Given the description of an element on the screen output the (x, y) to click on. 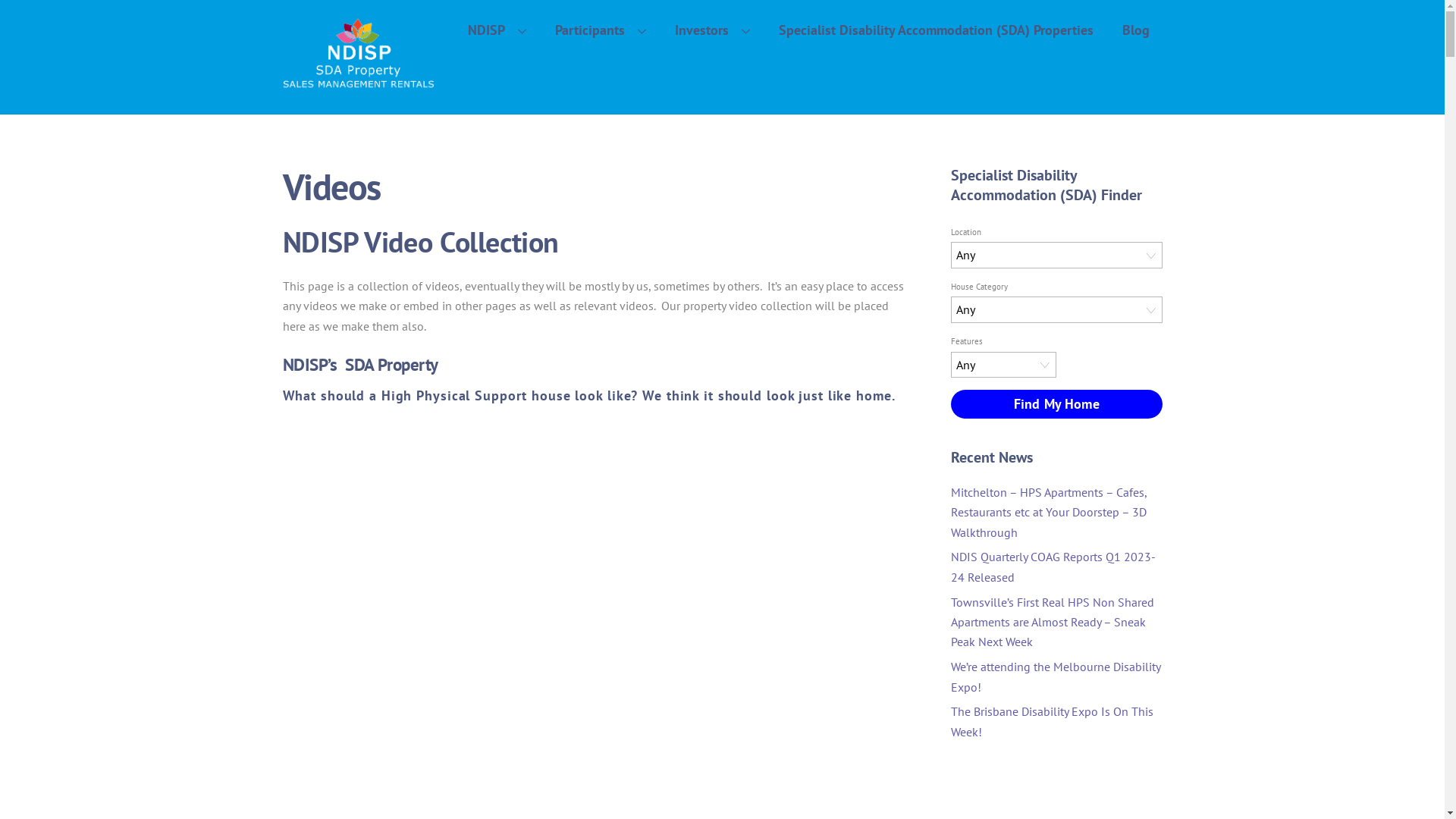
NDISP Element type: text (497, 30)
NDISP Element type: hover (357, 81)
Specialist Disability Accommodation (SDA) Properties Element type: text (935, 30)
Investors Element type: text (712, 30)
Blog Element type: text (1135, 30)
NDIS Quarterly COAG Reports Q1 2023-24 Released Element type: text (1052, 566)
Chatbot Element type: hover (1383, 757)
Participants Element type: text (600, 30)
The Brisbane Disability Expo Is On This Week! Element type: text (1051, 720)
Find My Home Element type: text (1055, 403)
NDISP Baringa Element type: hover (594, 588)
NDISP-Logo-White-Letters Element type: hover (357, 53)
